Given the description of an element on the screen output the (x, y) to click on. 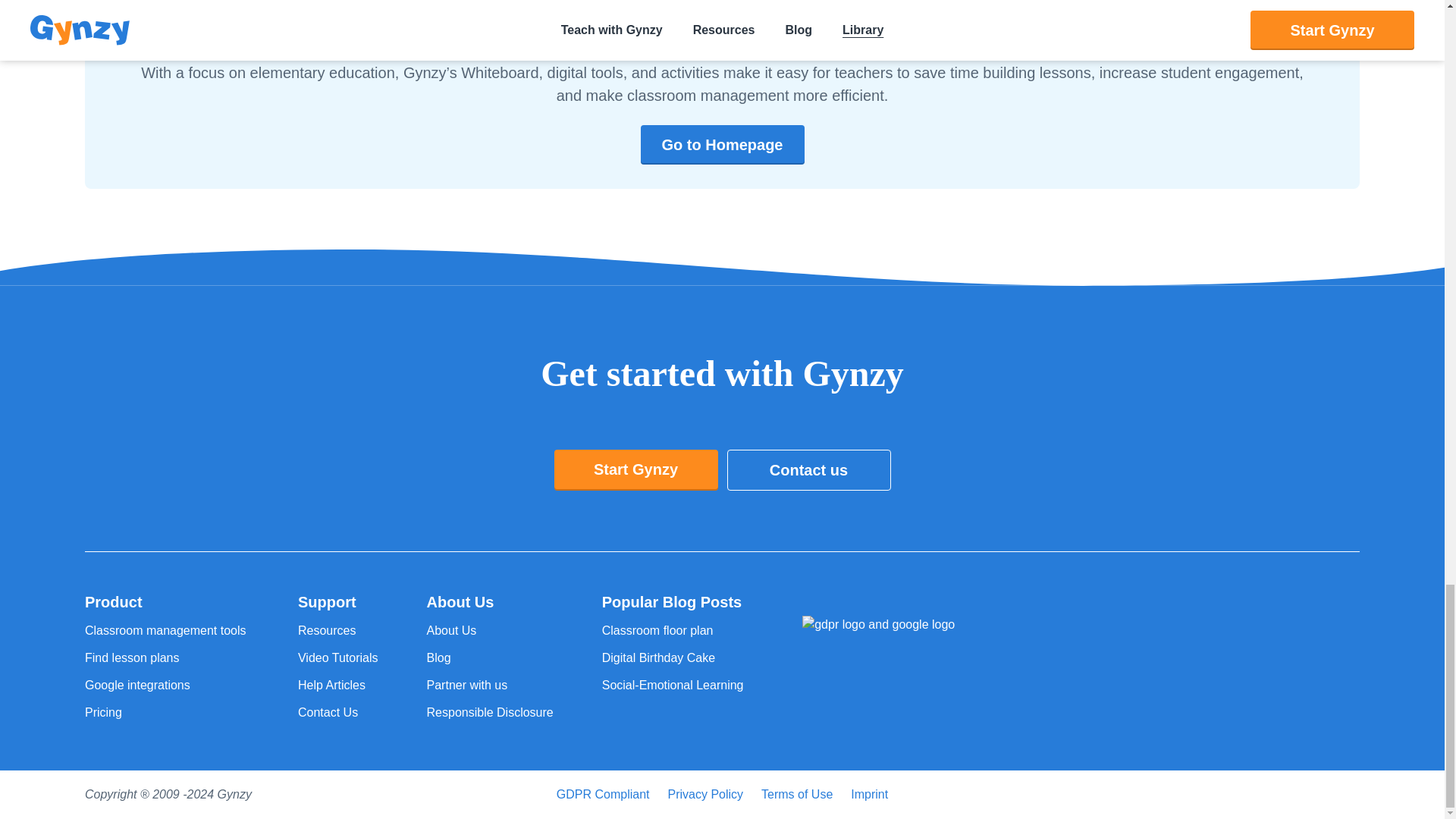
Pricing (166, 712)
Help Articles (338, 685)
Video Tutorials (338, 658)
Find lesson plans (166, 658)
Classroom management tools  (166, 630)
Go to Homepage (721, 144)
Resources (338, 630)
Google integrations (166, 685)
Contact us (807, 469)
Start Gynzy (635, 469)
